Given the description of an element on the screen output the (x, y) to click on. 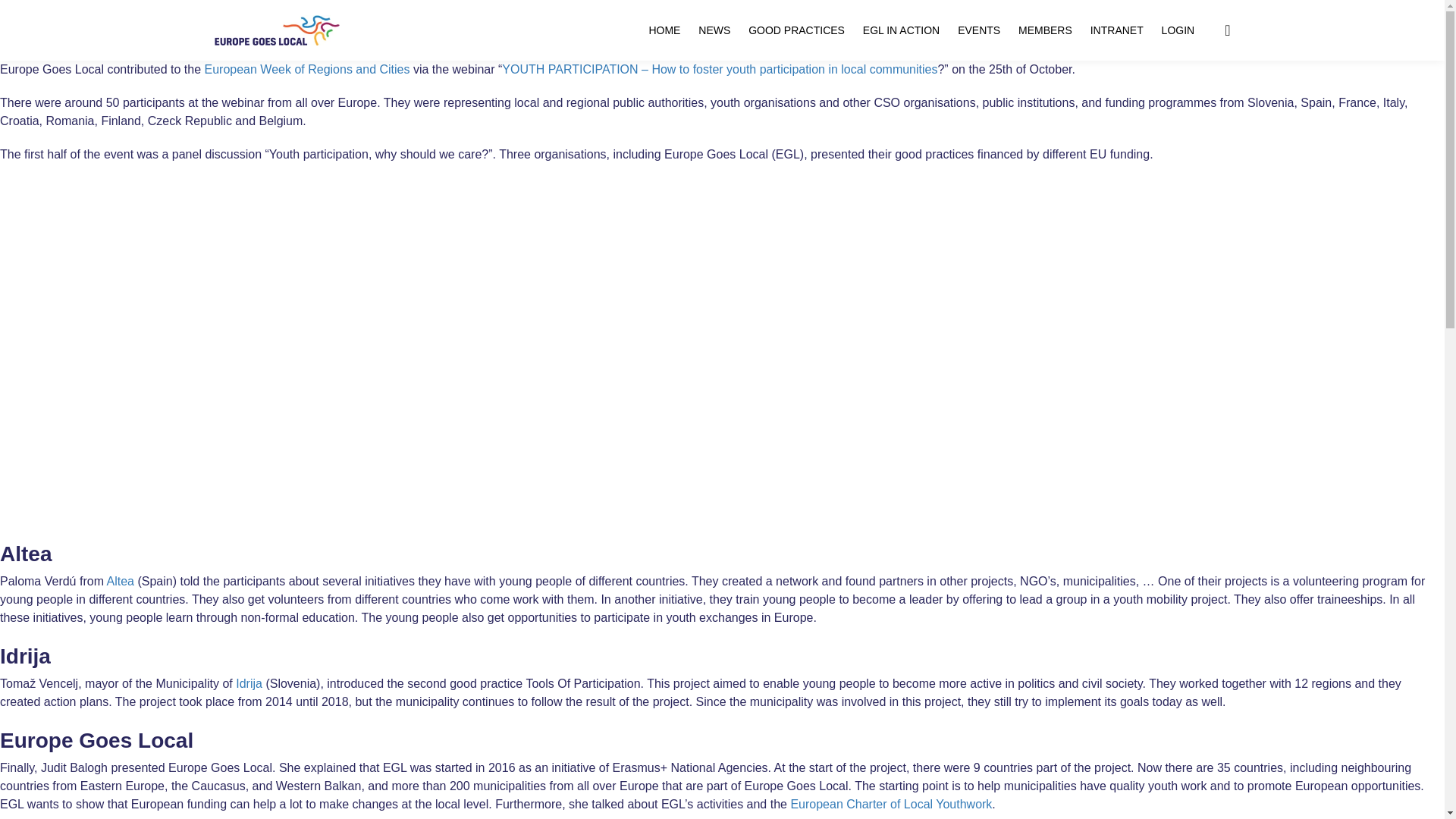
European Charter of Local Youthwork (890, 803)
MEMBERS (1044, 30)
European Week of Regions and Cities (307, 69)
EVENTS (979, 30)
NEWS (714, 30)
INTRANET (1116, 30)
LOGIN (1178, 30)
Altea (119, 581)
GOOD PRACTICES (796, 30)
